Given the description of an element on the screen output the (x, y) to click on. 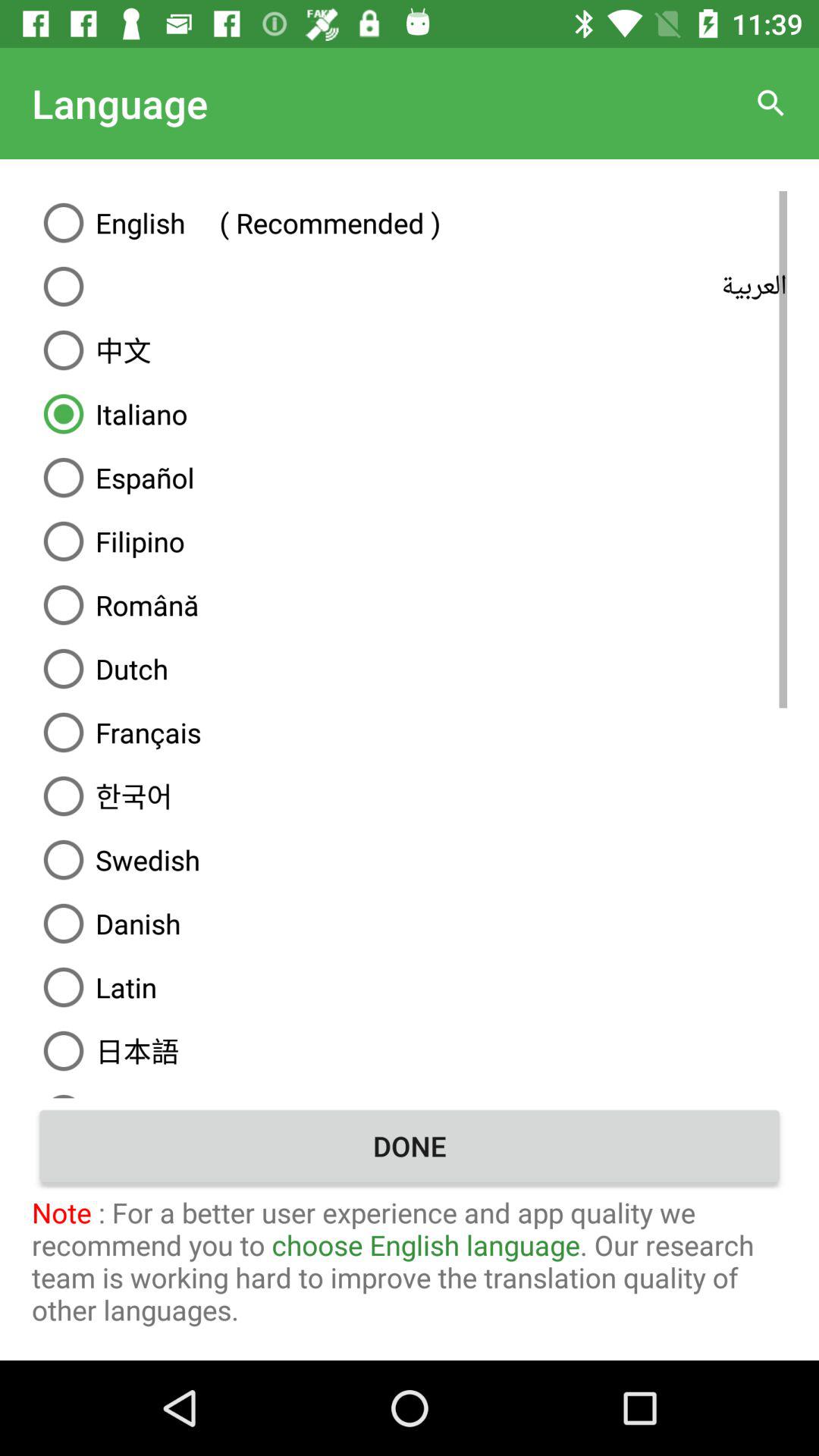
turn off icon below the swedish (409, 923)
